Given the description of an element on the screen output the (x, y) to click on. 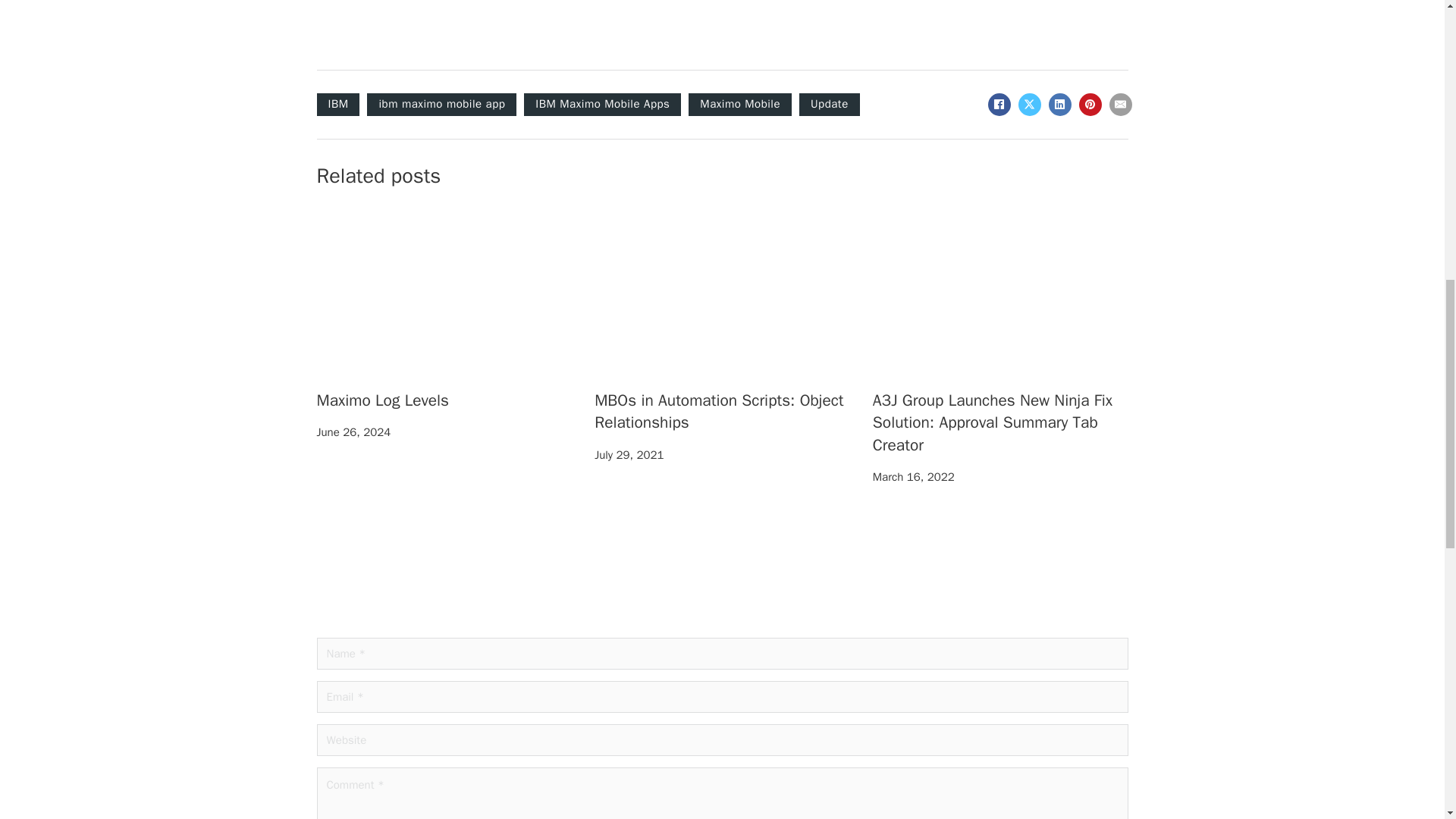
ibm maximo mobile app (441, 104)
MBOs in Automation Scripts: Object Relationships (718, 411)
Update (829, 104)
IBM Maximo Mobile Apps (602, 104)
Maximo Log Levels (383, 400)
IBM (338, 104)
Maximo Mobile (740, 104)
